Given the description of an element on the screen output the (x, y) to click on. 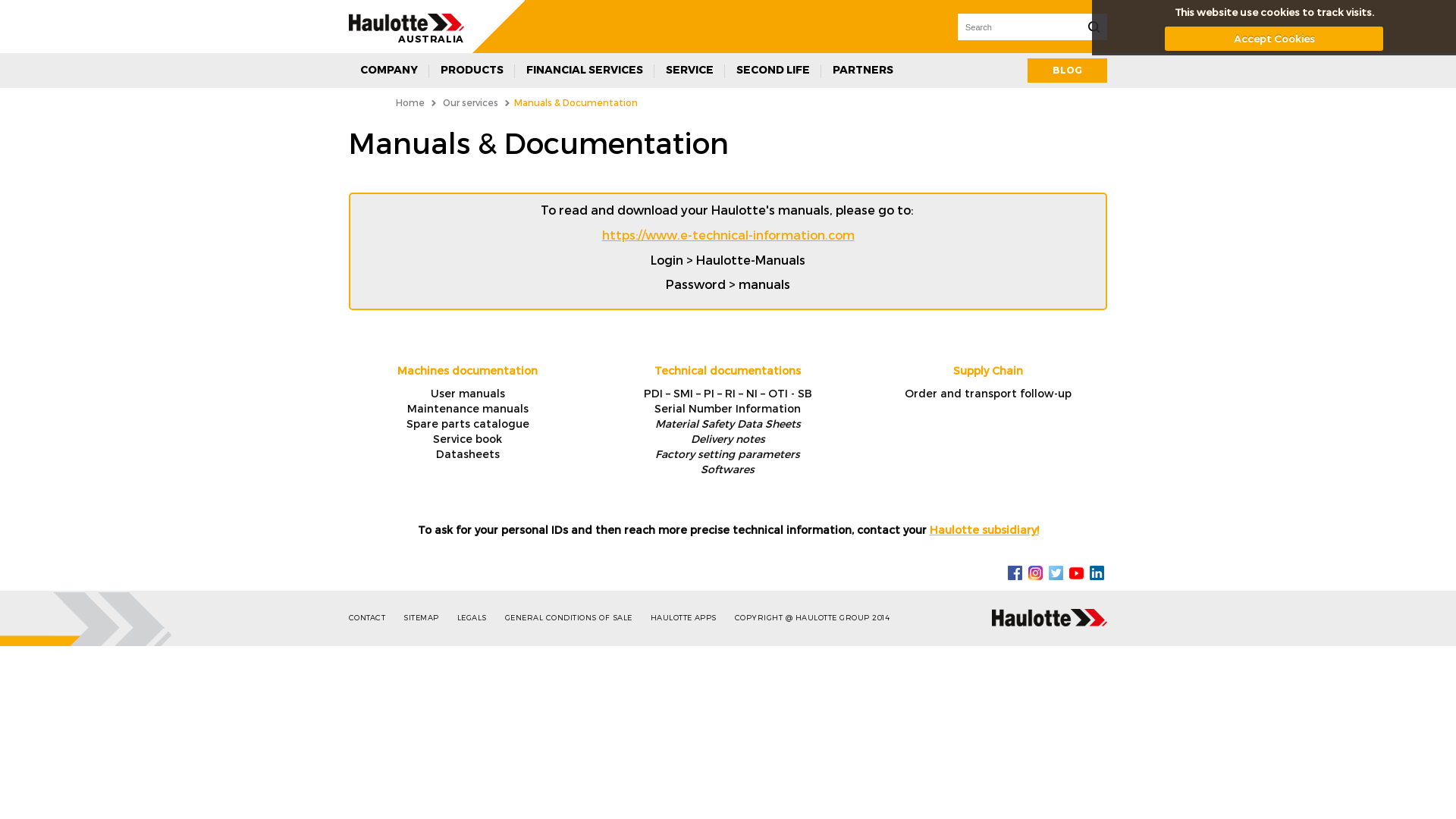
Twitter Element type: hover (1055, 571)
Linkedin Element type: hover (1096, 571)
Home Element type: text (409, 102)
CONTACT Element type: text (374, 617)
PRODUCTS Element type: text (471, 70)
GENERAL CONDITIONS OF SALE Element type: text (576, 617)
FINANCIAL SERVICES Element type: text (584, 70)
Facebook Element type: hover (1014, 571)
YouTube Element type: hover (1076, 571)
SITEMAP Element type: text (428, 617)
LEGALS Element type: text (479, 617)
Haulotte subsidiary! Element type: text (983, 529)
https://www.e-technical-information.com Element type: text (728, 234)
alt_logo_haulotte Element type: hover (406, 22)
Our services Element type: text (470, 102)
Skip to main content Element type: text (57, 0)
SECOND LIFE Element type: text (772, 70)
Search Element type: text (1093, 26)
HAULOTTE APPS Element type: text (690, 617)
Accept Cookies Element type: text (1273, 38)
PARTNERS Element type: text (862, 70)
COMPANY Element type: text (388, 70)
Enter the terms you wish to search for. Element type: hover (1018, 26)
BLOG Element type: text (1067, 70)
SERVICE Element type: text (689, 70)
Instagram Element type: hover (1035, 571)
